Given the description of an element on the screen output the (x, y) to click on. 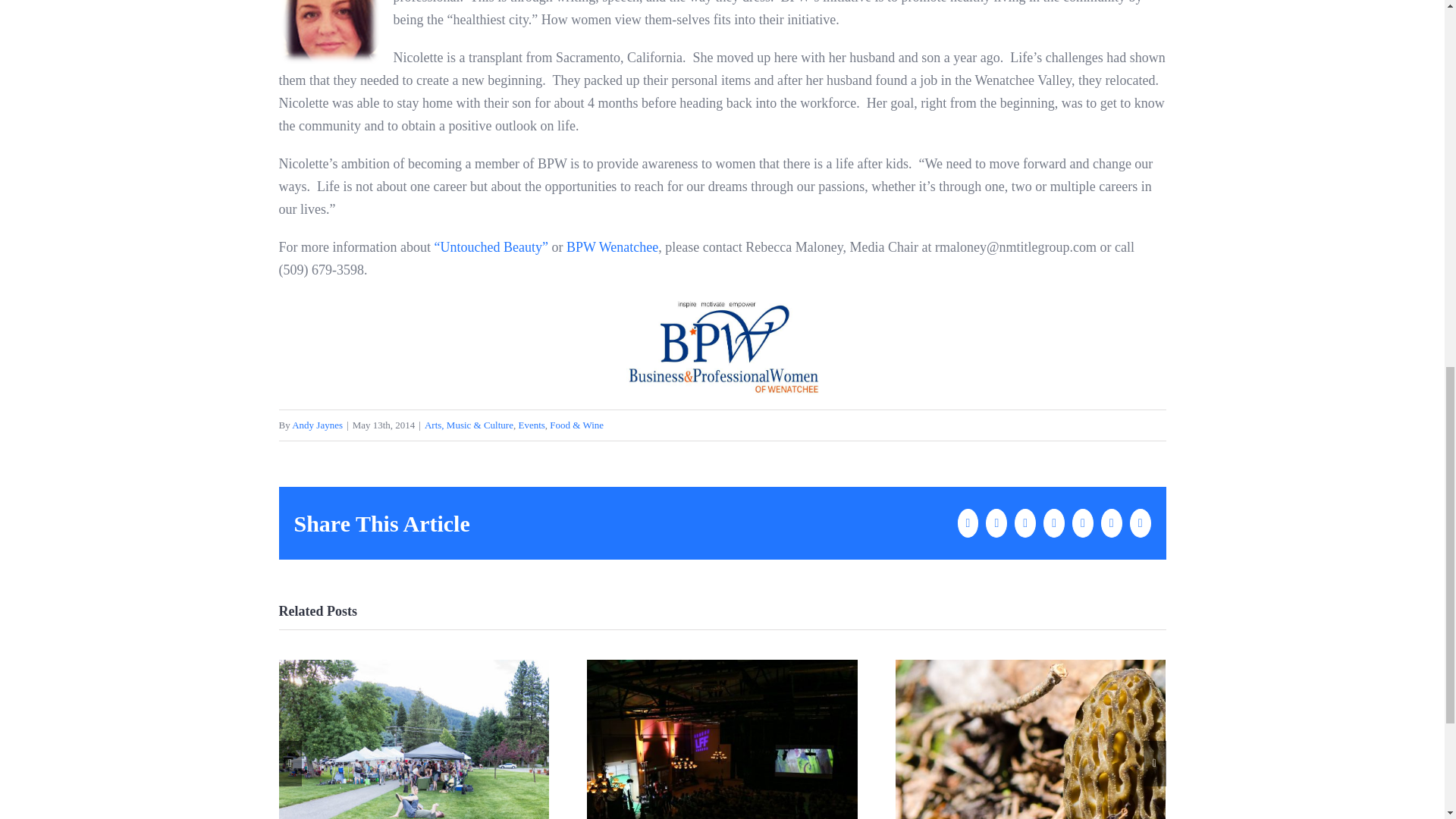
BPW Wenatchee (612, 246)
Andy Jaynes (317, 424)
Events (531, 424)
Posts by Andy Jaynes (317, 424)
